Given the description of an element on the screen output the (x, y) to click on. 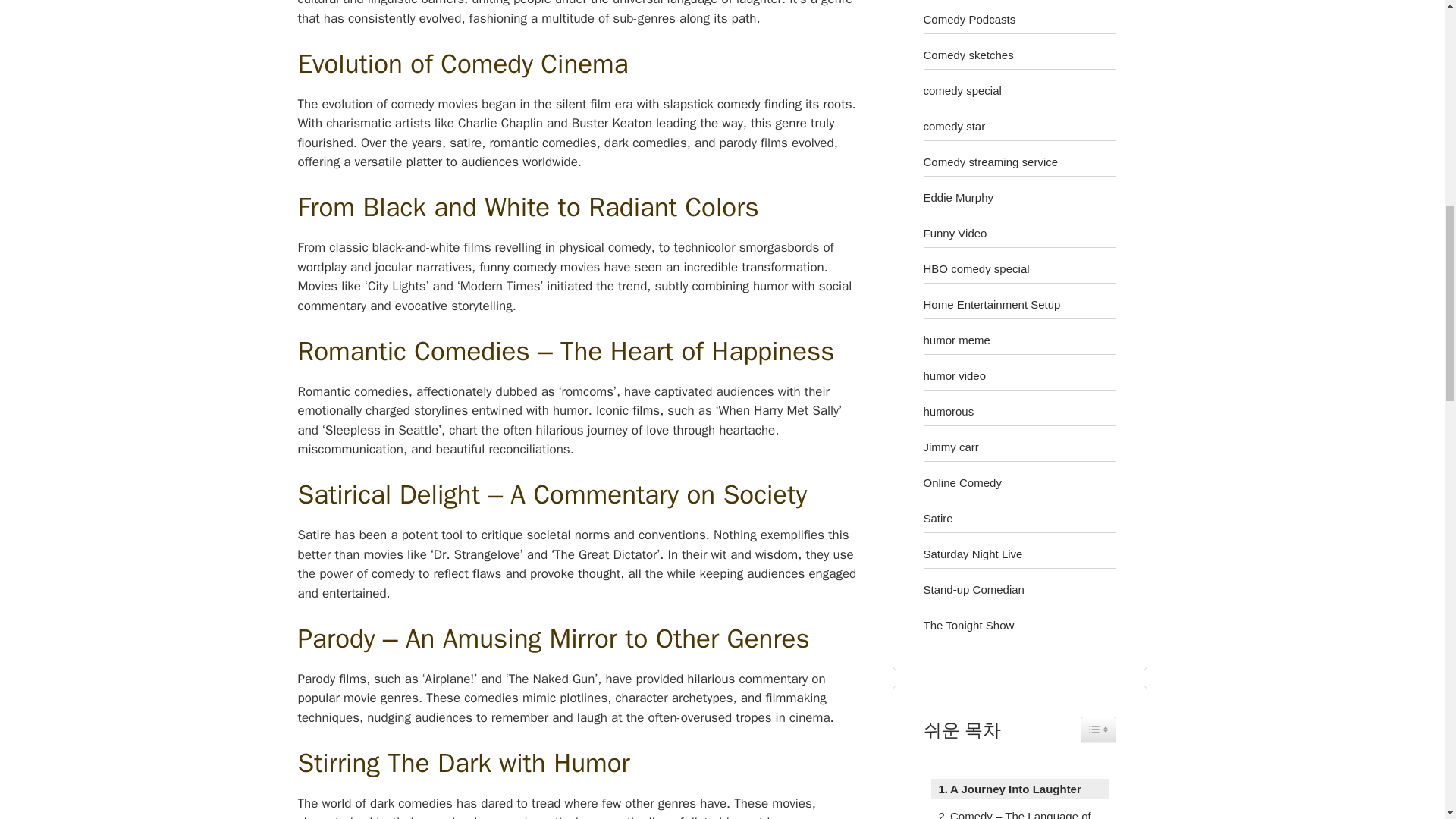
A Journey Into Laughter (1006, 789)
